Given the description of an element on the screen output the (x, y) to click on. 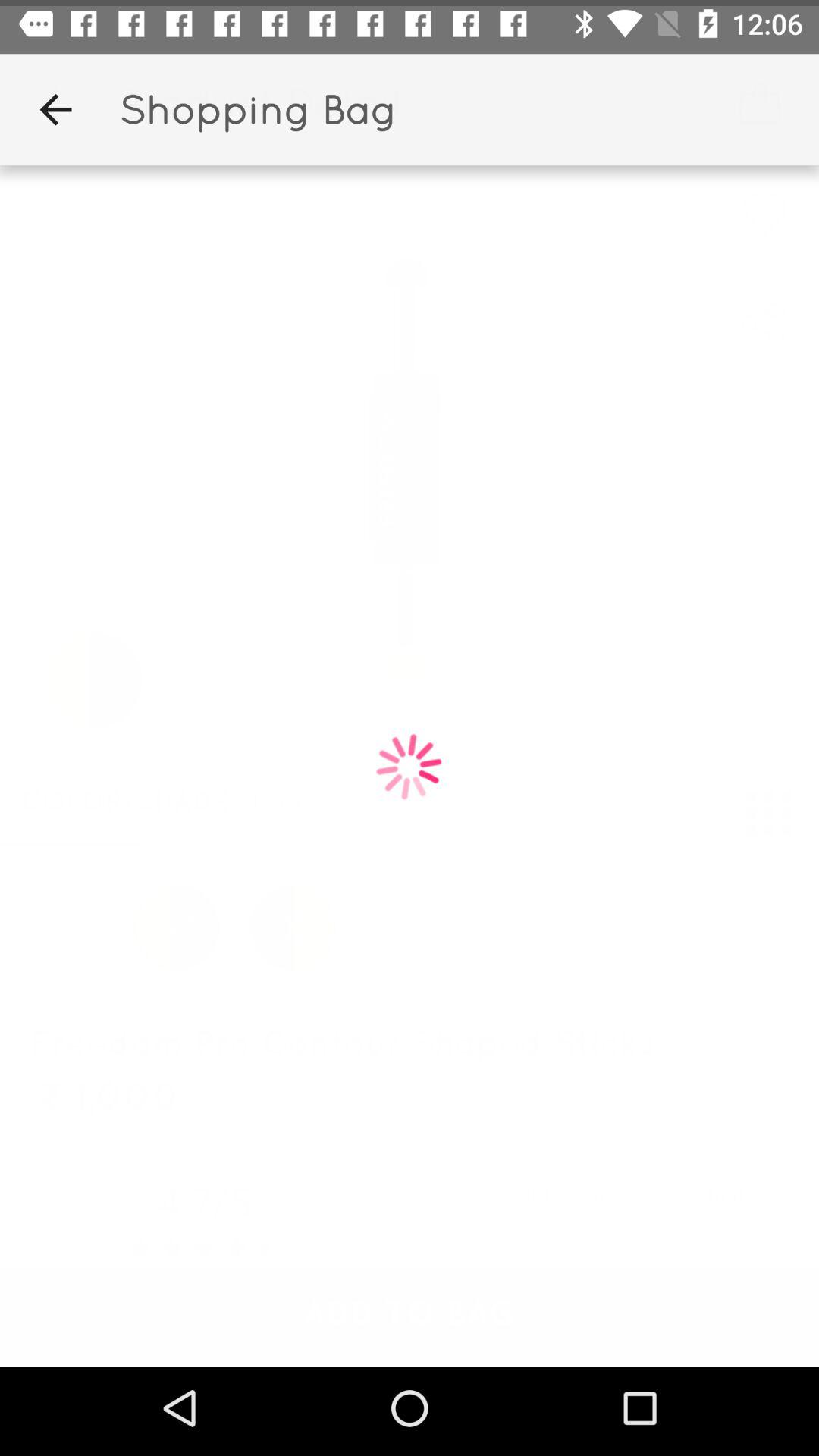
choose the item next to the shopping bag app (55, 103)
